Given the description of an element on the screen output the (x, y) to click on. 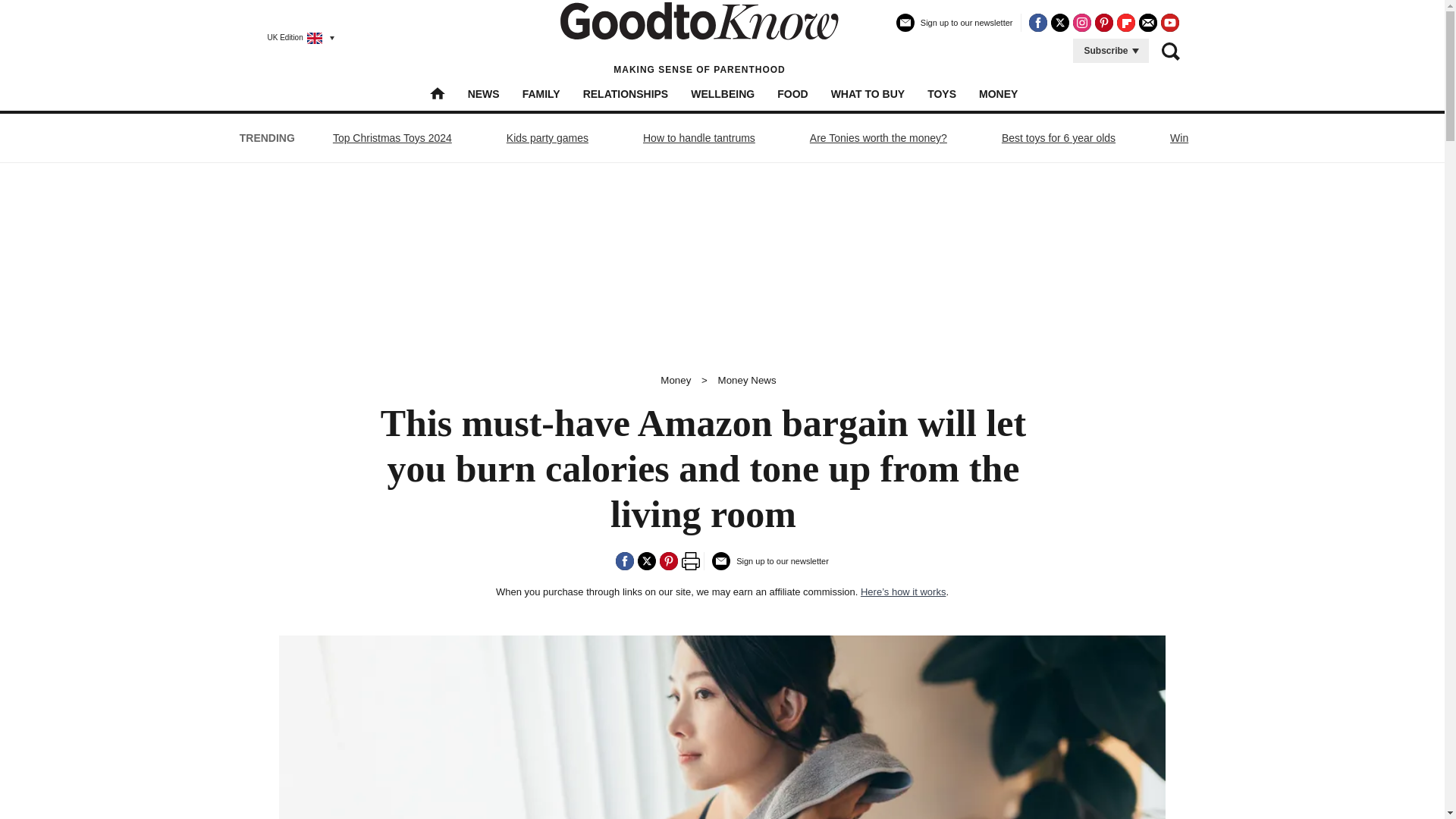
RELATIONSHIPS (625, 93)
Are Tonies worth the money? (878, 137)
Kids party games (547, 137)
FOOD (792, 93)
MONEY (997, 93)
Win (1178, 137)
Top Christmas Toys 2024 (392, 137)
How to handle tantrums (698, 137)
WELLBEING (722, 93)
NEWS (483, 93)
